Given the description of an element on the screen output the (x, y) to click on. 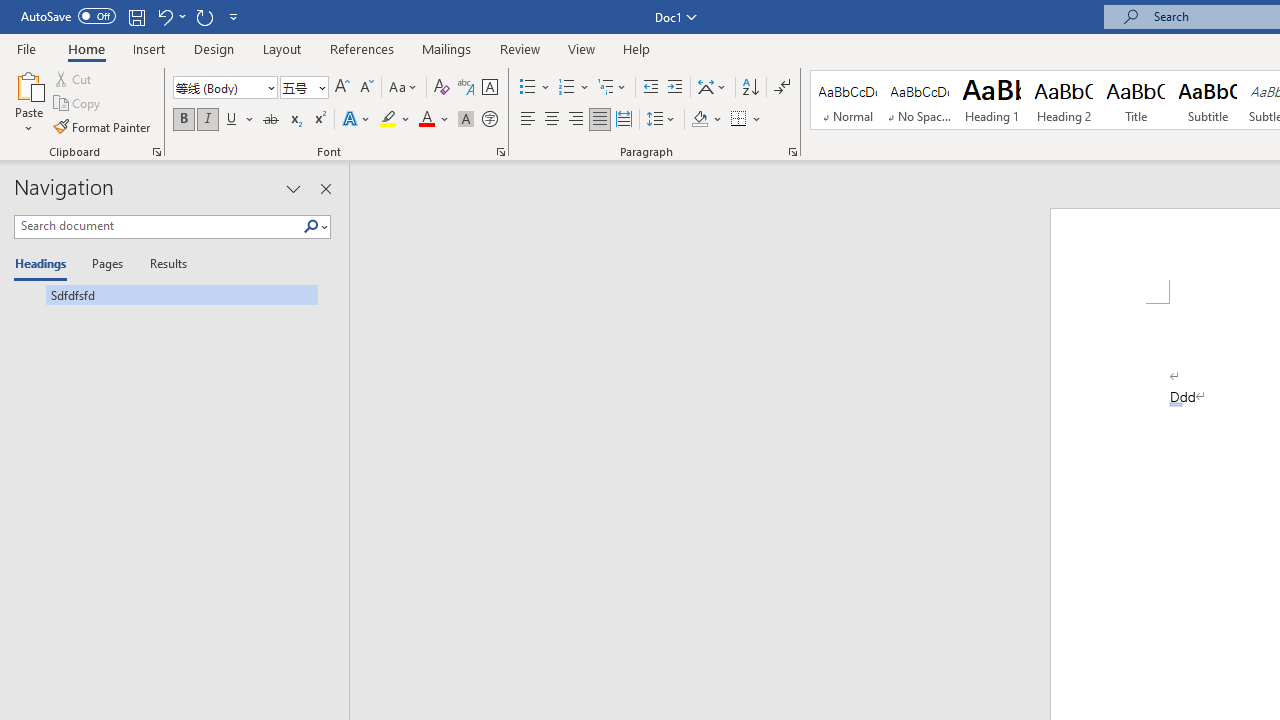
File Tab (26, 48)
Save (136, 15)
Character Border (489, 87)
Shading RGB(0, 0, 0) (699, 119)
Heading 1 (991, 100)
Font Color Red (426, 119)
Underline (239, 119)
Italic (207, 119)
Font (218, 87)
Repeat Style (204, 15)
Paragraph... (792, 151)
Shading (706, 119)
Search (315, 227)
